Given the description of an element on the screen output the (x, y) to click on. 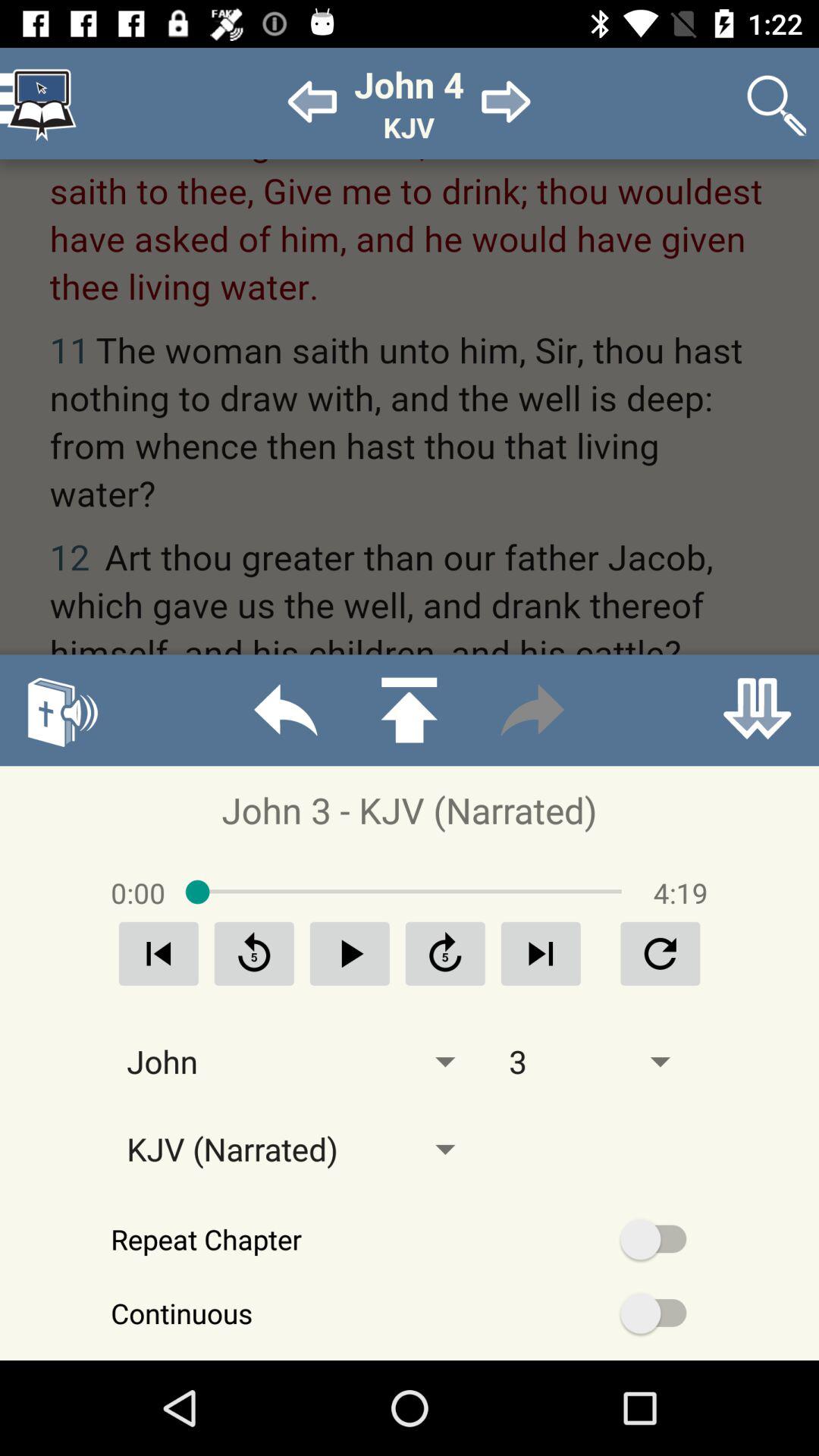
go to previous (285, 709)
